Given the description of an element on the screen output the (x, y) to click on. 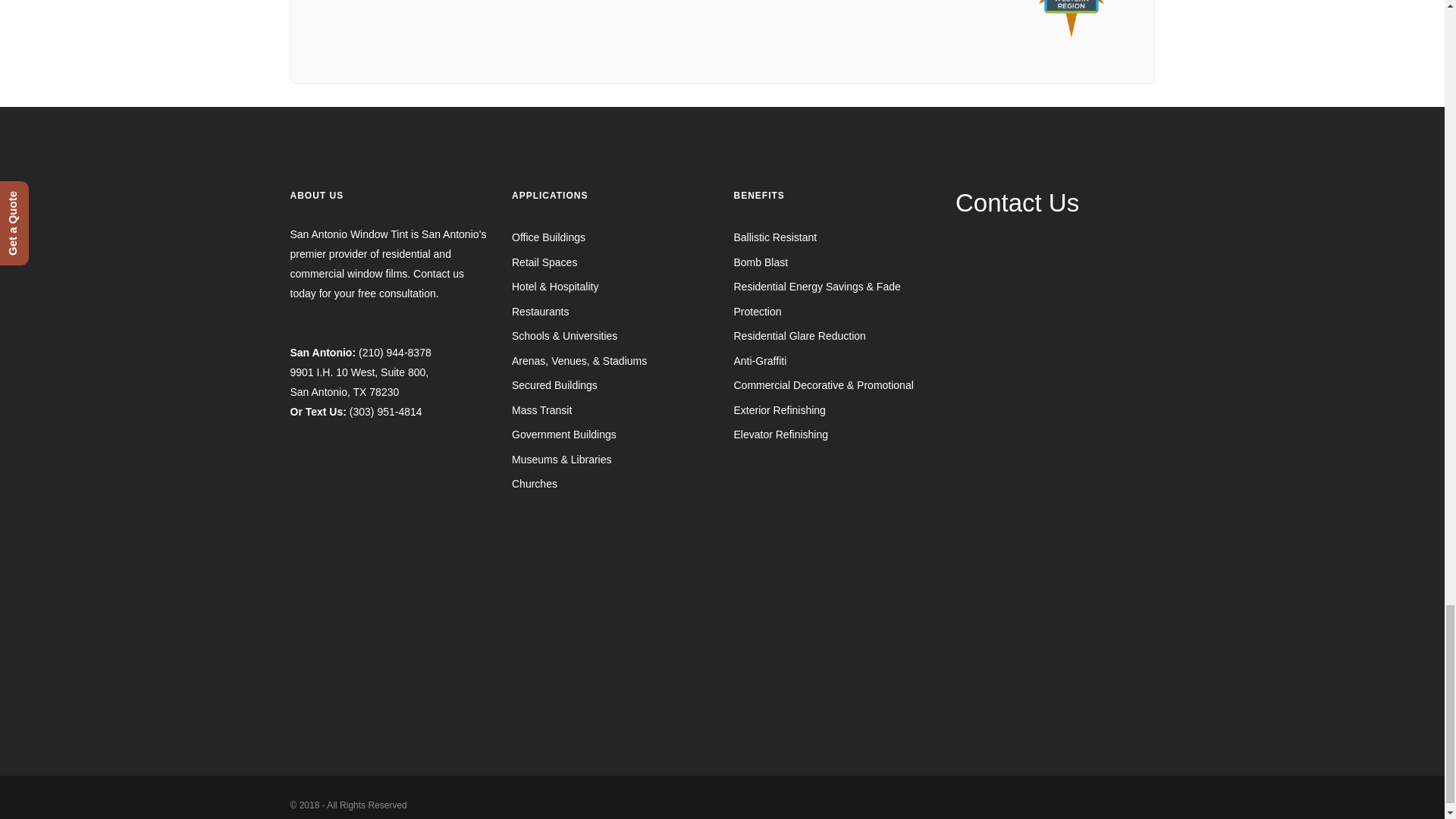
Secured Building San Antonio Window Tinting (554, 385)
San Antonio Office Window Tinting (548, 236)
Mass Transit Austin Window Tinting (542, 410)
Retail Austin Window Tinting (544, 262)
Government Buildings San Antonio Window Tinting (563, 434)
Ballistic Resistance Film for San Antonio Window Tint (774, 236)
Bomb Blast Film for San Antonio Window Tint (761, 262)
San Antonio Restaurant Window Tinting (540, 311)
Churches Austin Window Tinting (534, 483)
